Given the description of an element on the screen output the (x, y) to click on. 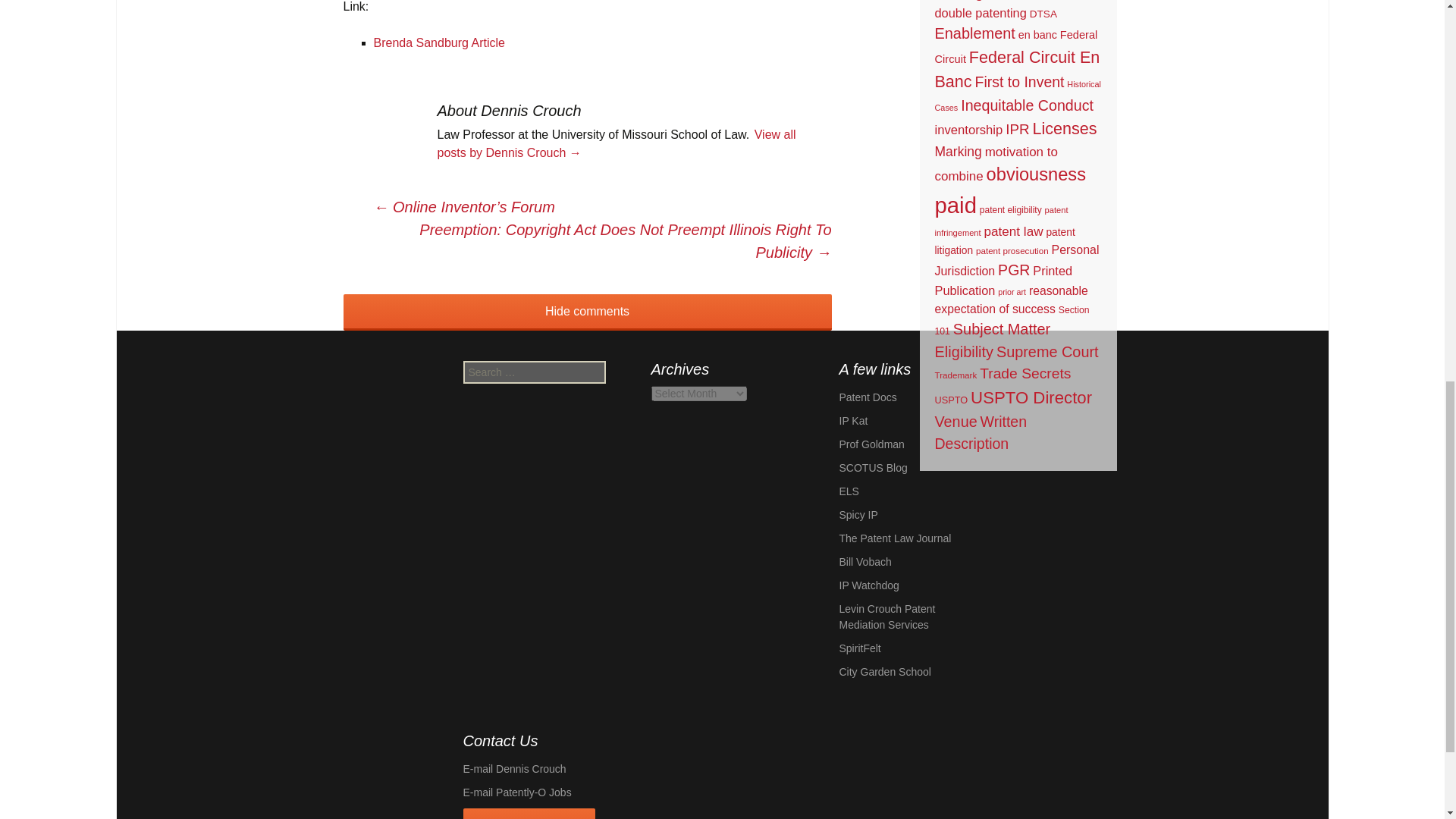
Damages (966, 0)
Hide comments (586, 312)
Brenda Sandburg Article (437, 42)
